Given the description of an element on the screen output the (x, y) to click on. 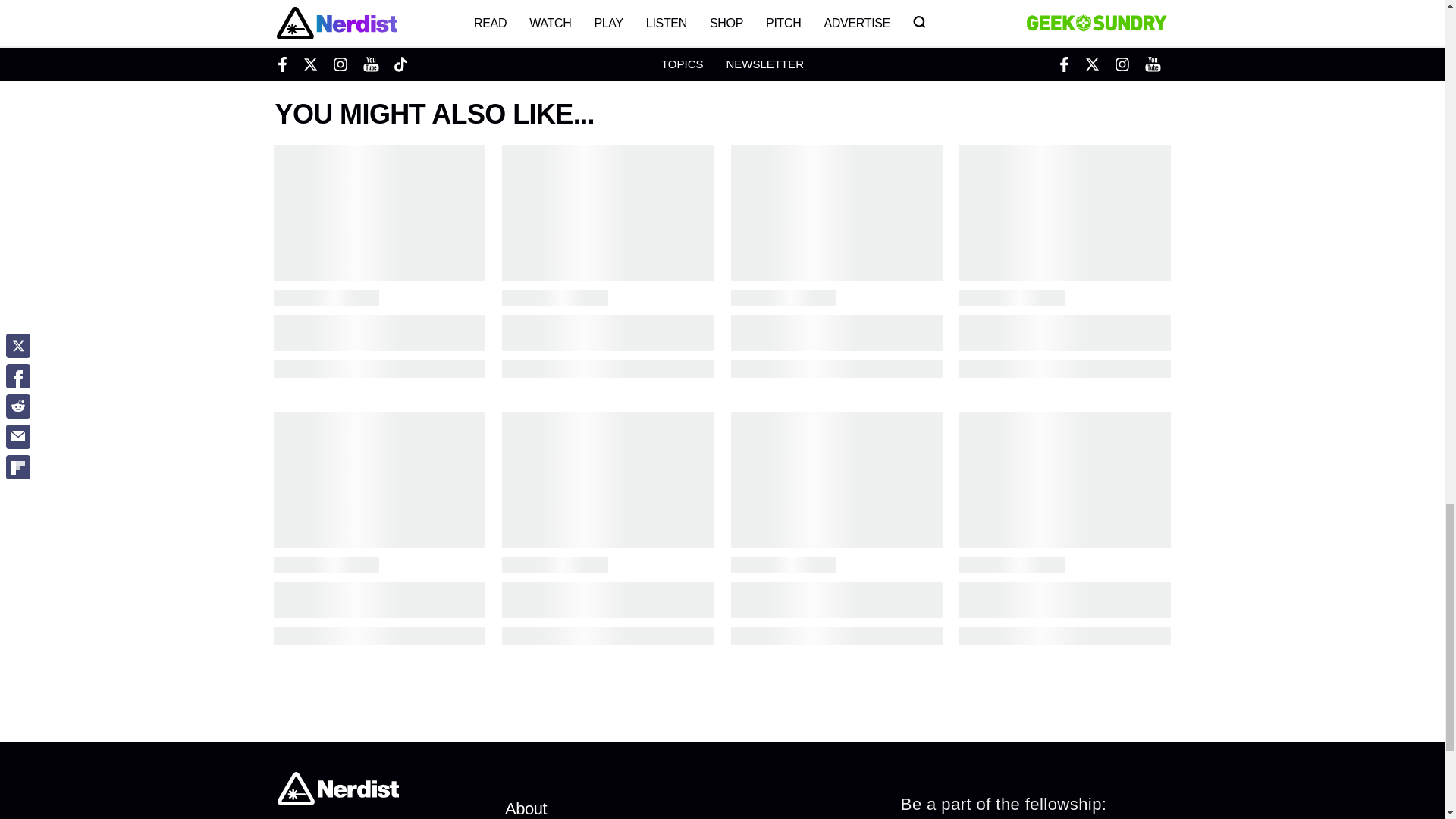
NERDY KEYBOARD (543, 27)
KEYBOARDS (385, 27)
About (526, 808)
LEGO (452, 27)
